Given the description of an element on the screen output the (x, y) to click on. 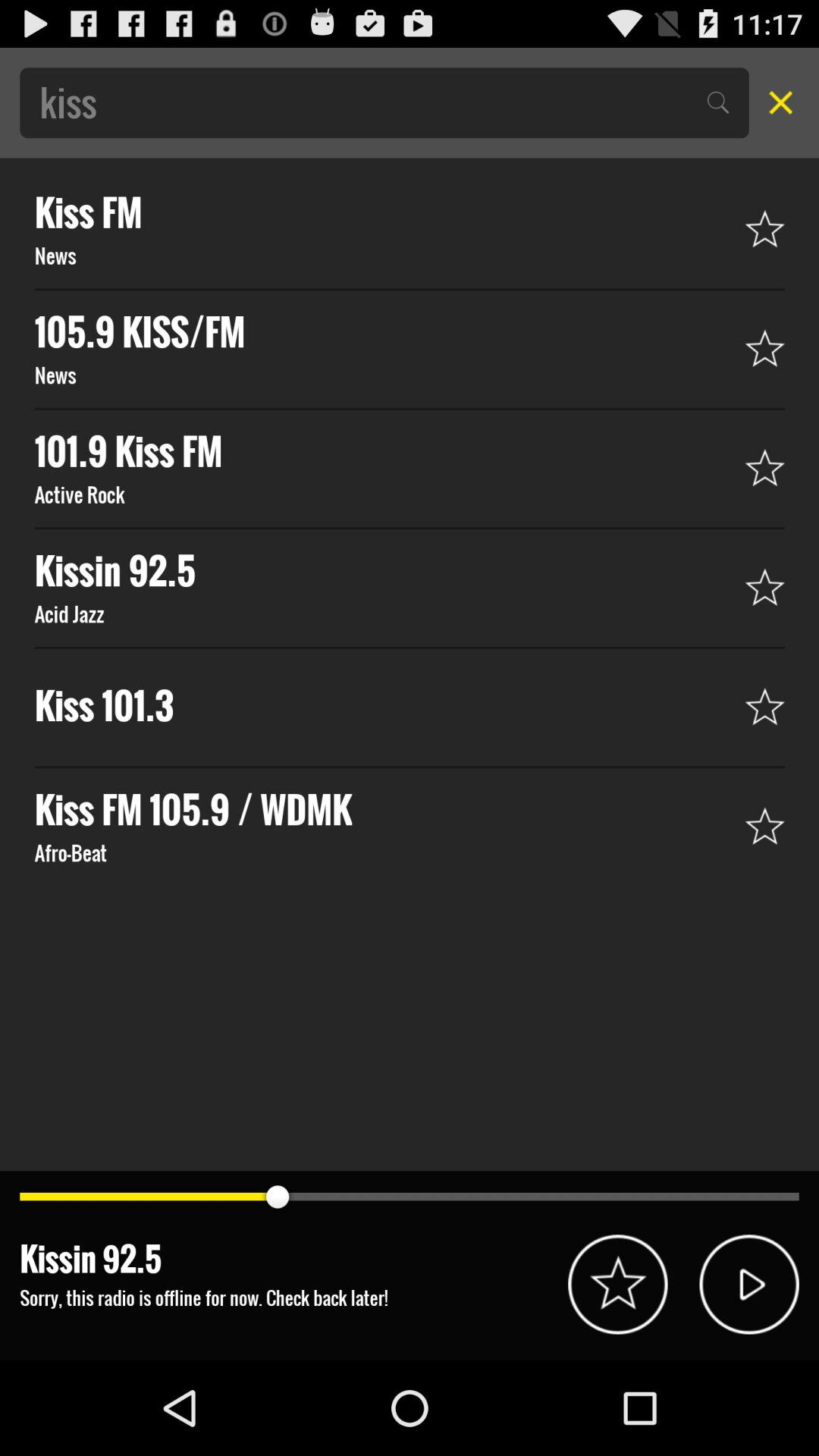
play music (749, 1284)
